Given the description of an element on the screen output the (x, y) to click on. 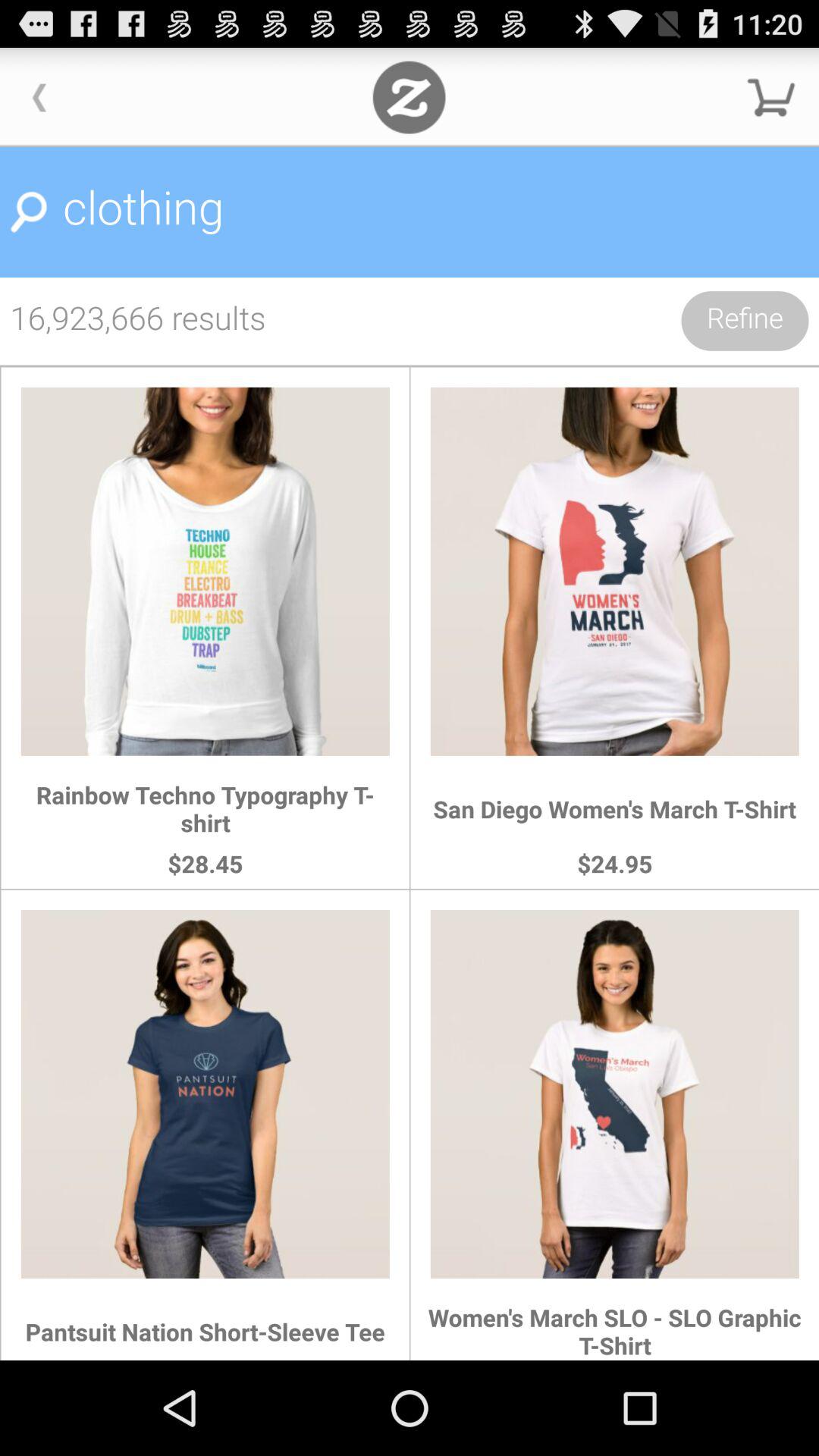
back (39, 97)
